Given the description of an element on the screen output the (x, y) to click on. 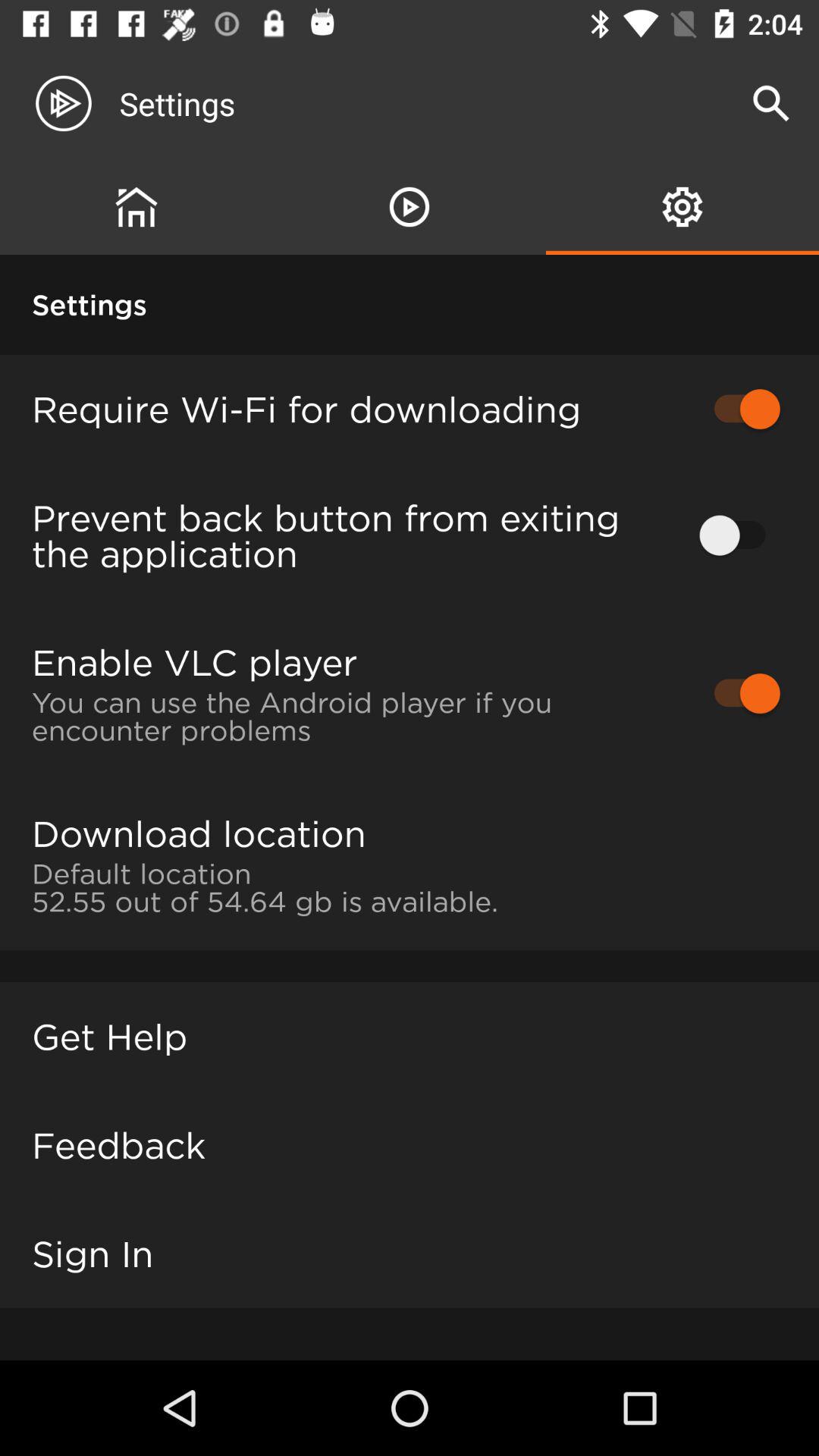
select icon above settings icon (136, 206)
